Given the description of an element on the screen output the (x, y) to click on. 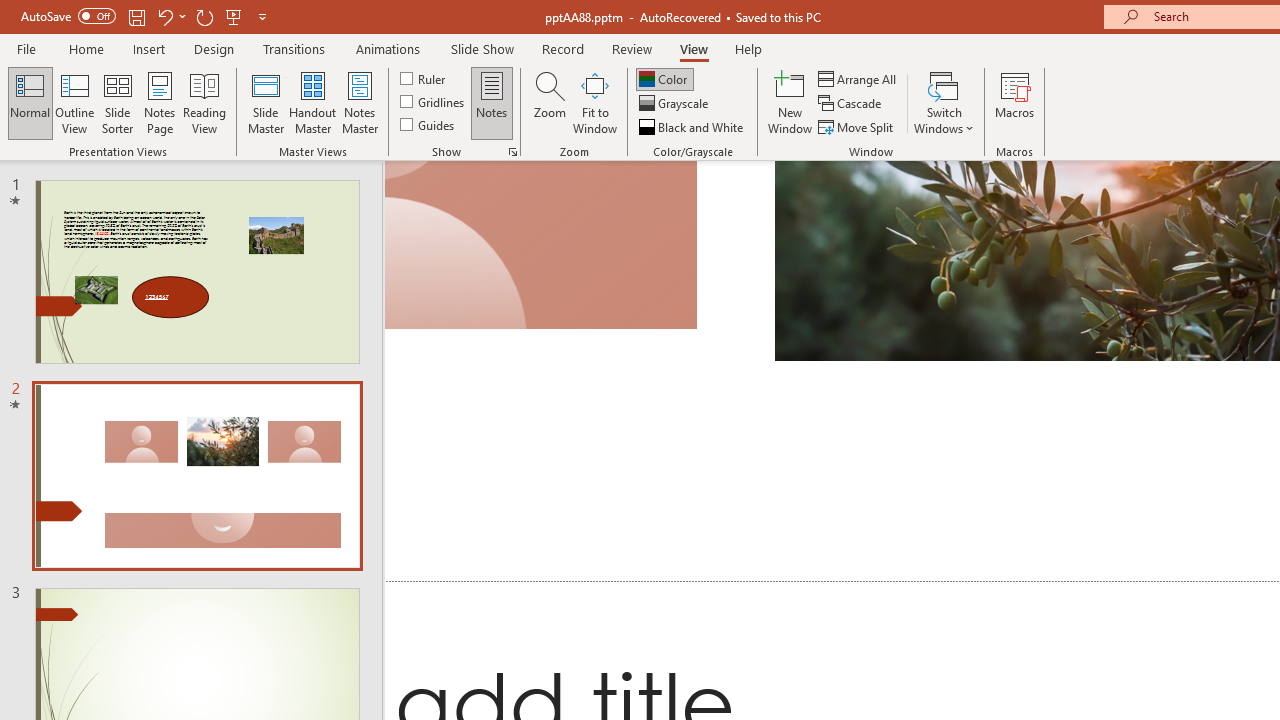
Black and White (693, 126)
Guides (428, 124)
